Given the description of an element on the screen output the (x, y) to click on. 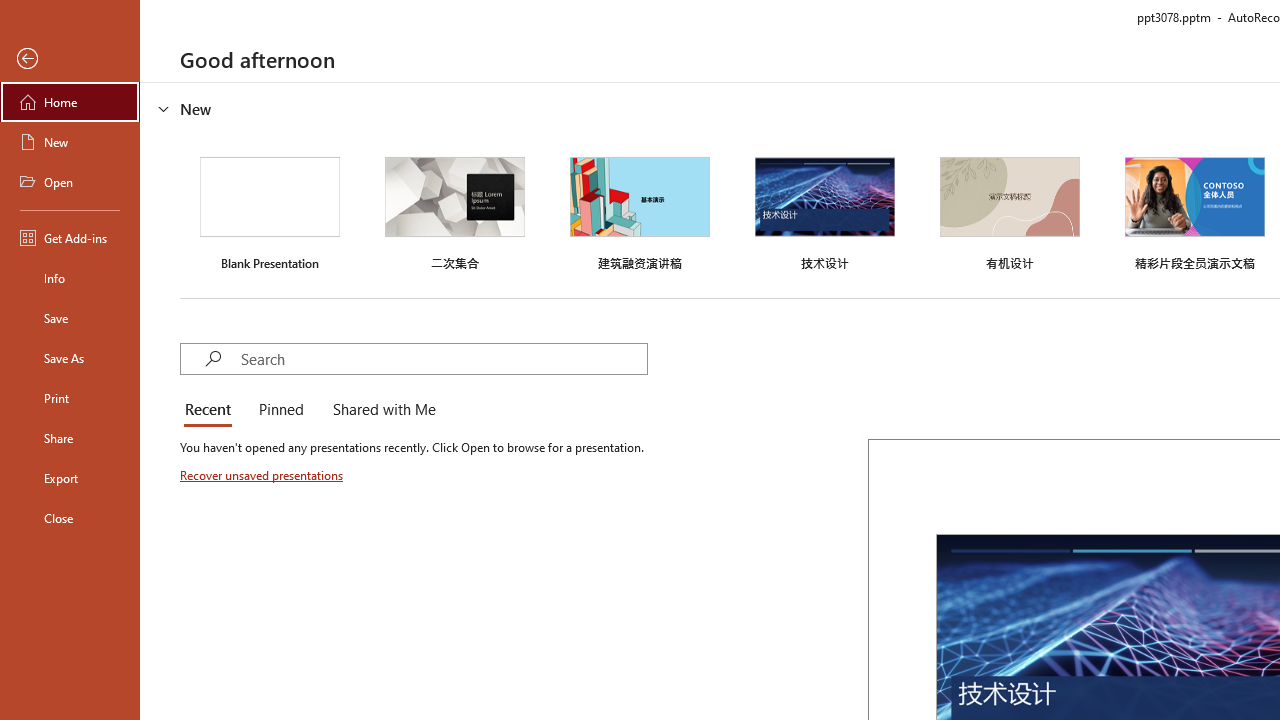
Pinned (280, 410)
Blank Presentation (269, 211)
Print (69, 398)
New (69, 141)
Shared with Me (379, 410)
Save As (69, 357)
Recent (212, 410)
Export (69, 477)
Info (69, 277)
Hide or show region (164, 108)
